Given the description of an element on the screen output the (x, y) to click on. 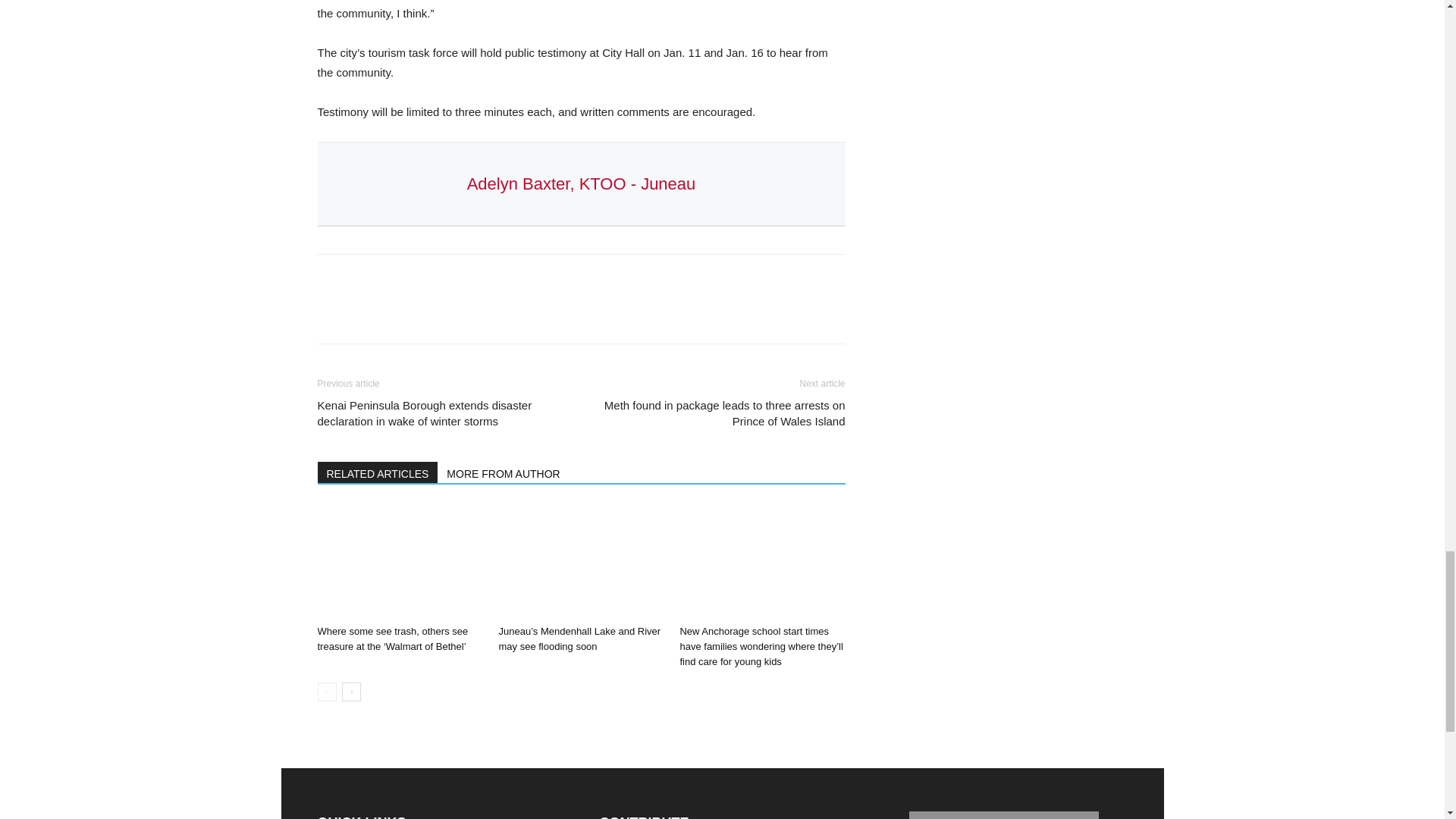
bottomFacebookLike (430, 278)
